Given the description of an element on the screen output the (x, y) to click on. 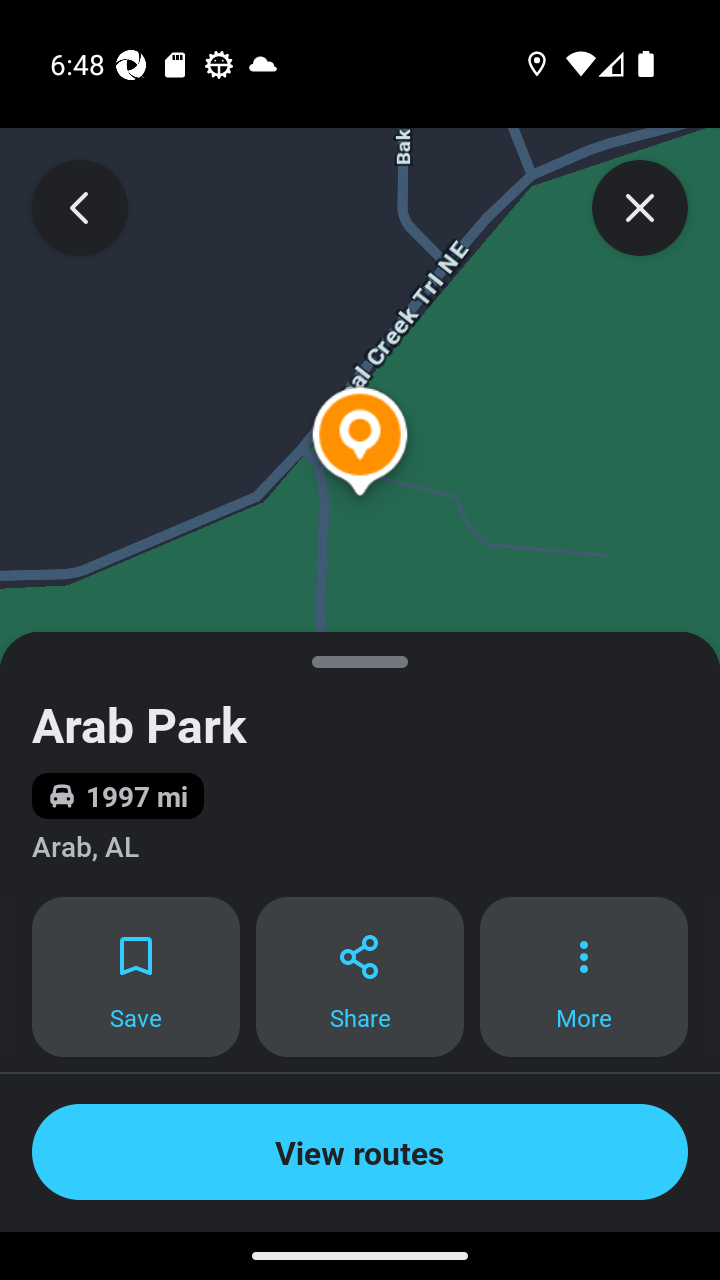
Arab Park 1997 mi Arab, AL (360, 764)
Save (135, 977)
Share (359, 977)
More (584, 977)
View routes (359, 1151)
